Given the description of an element on the screen output the (x, y) to click on. 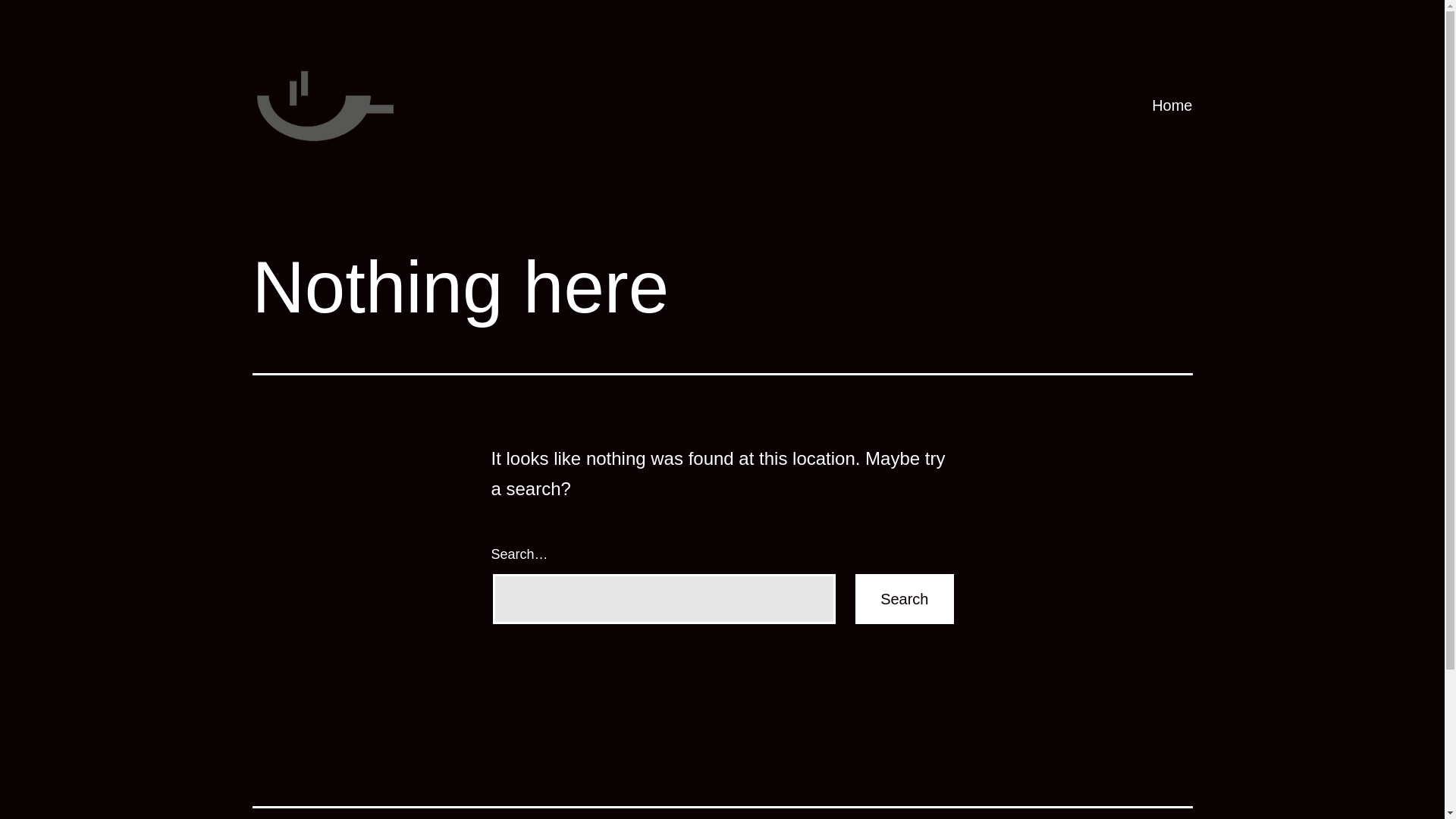
Search Element type: text (904, 599)
Home Element type: text (1172, 104)
